Given the description of an element on the screen output the (x, y) to click on. 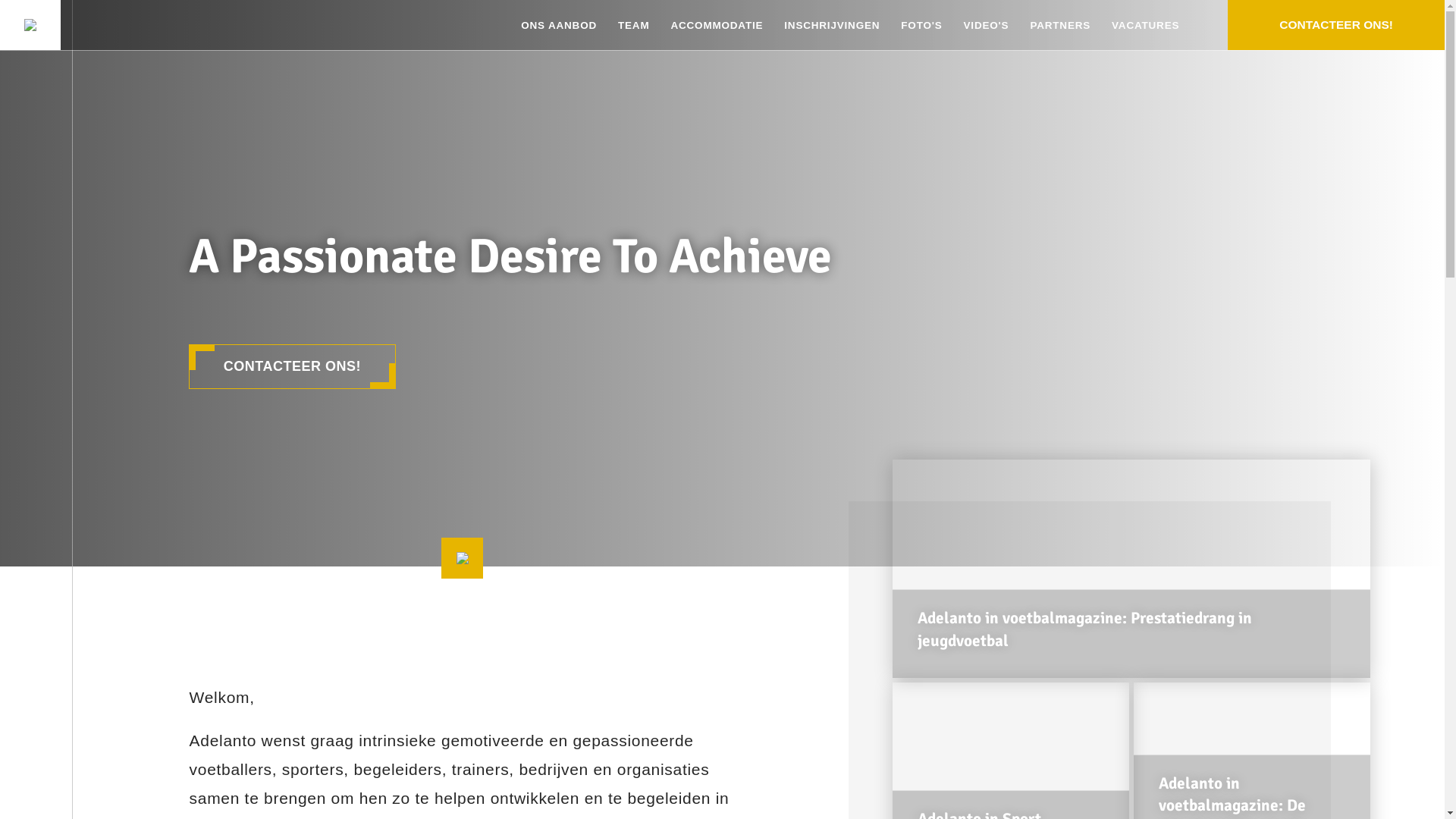
CONTACTEER ONS! Element type: text (1335, 25)
VIDEO'S Element type: text (986, 24)
ONS AANBOD Element type: text (558, 24)
Adelanto Twitter Element type: hover (36, 529)
Adelanto Linkedin Element type: hover (36, 493)
CONTACTEER ONS! Element type: text (291, 366)
PARTNERS Element type: text (1059, 24)
INSCHRIJVINGEN Element type: text (831, 24)
Adelanto Element type: hover (30, 25)
VACATURES Element type: text (1145, 24)
Adelanto Facebook Element type: hover (36, 420)
TEAM Element type: text (633, 24)
Adelanto Instagram Element type: hover (36, 457)
Adelanto in voetbalmagazine: Prestatiedrang in jeugdvoetbal Element type: text (1131, 568)
FOTO'S Element type: text (920, 24)
ACCOMMODATIE Element type: text (716, 24)
